Given the description of an element on the screen output the (x, y) to click on. 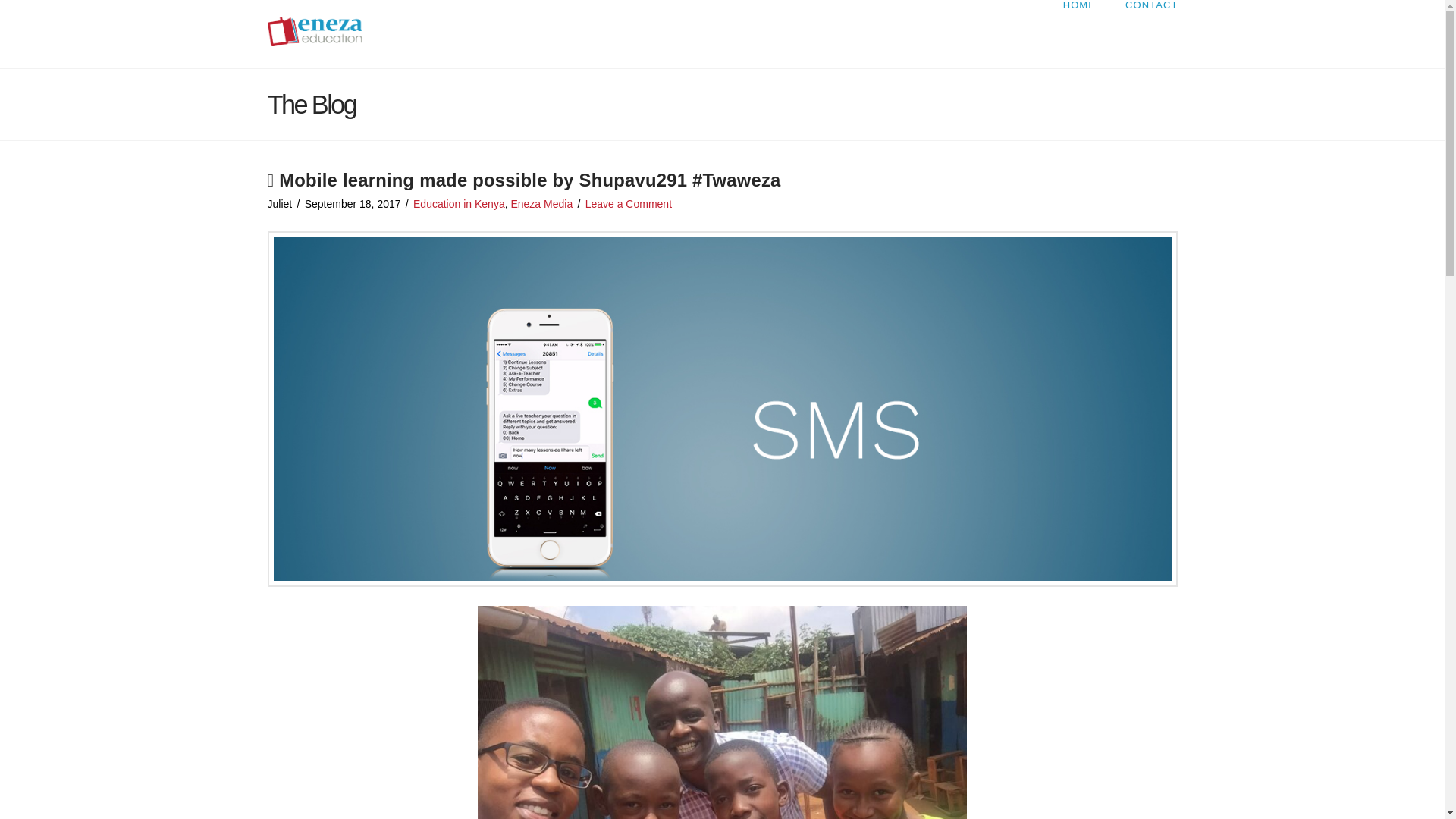
CONTACT (1143, 33)
Eneza Media (541, 203)
Education in Kenya (459, 203)
HOME (1078, 33)
Leave a Comment (628, 203)
